Given the description of an element on the screen output the (x, y) to click on. 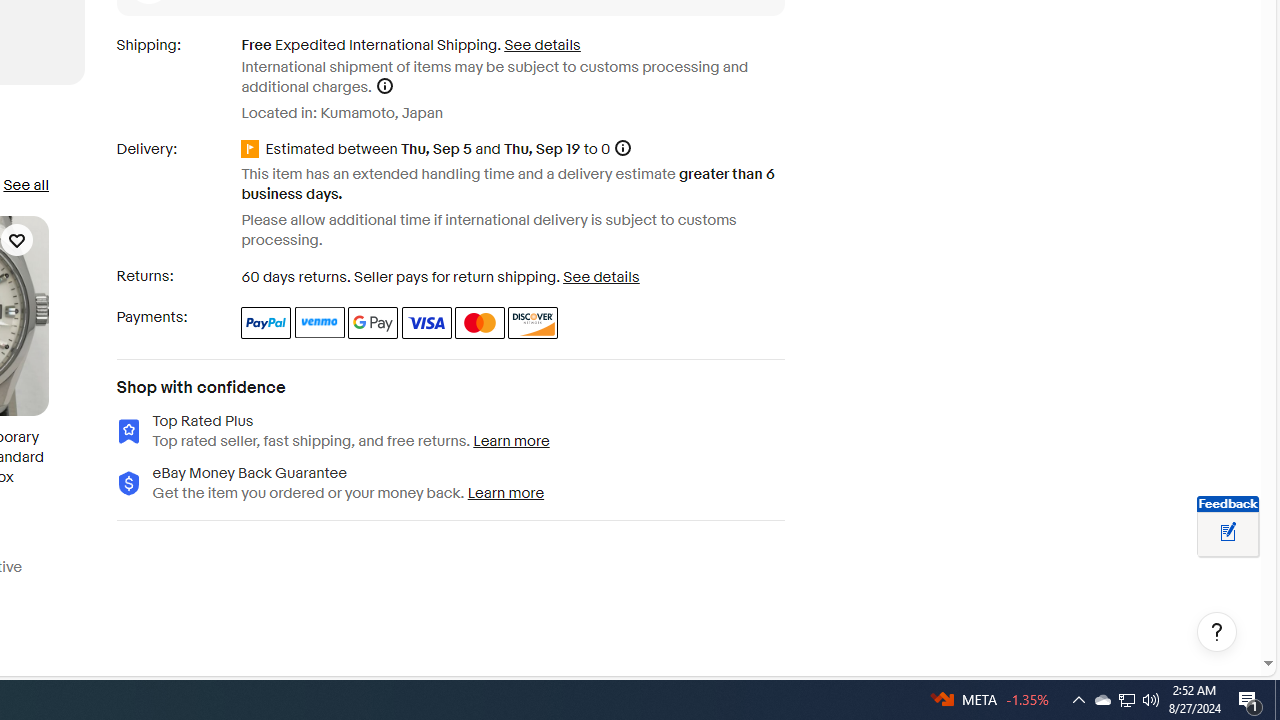
Master Card (479, 322)
Visa (425, 322)
See details for shipping (542, 44)
See all (25, 184)
Leave feedback about your eBay ViewItem experience (1227, 533)
See details - for more information about returns (601, 277)
Venmo (319, 322)
Shipping help - opens a layer (384, 86)
PayPal (265, 322)
Help, opens dialogs (1217, 632)
Learn more - Top Rated Plus - opens in a new window or tab (511, 440)
Delivery alert flag (253, 148)
